Given the description of an element on the screen output the (x, y) to click on. 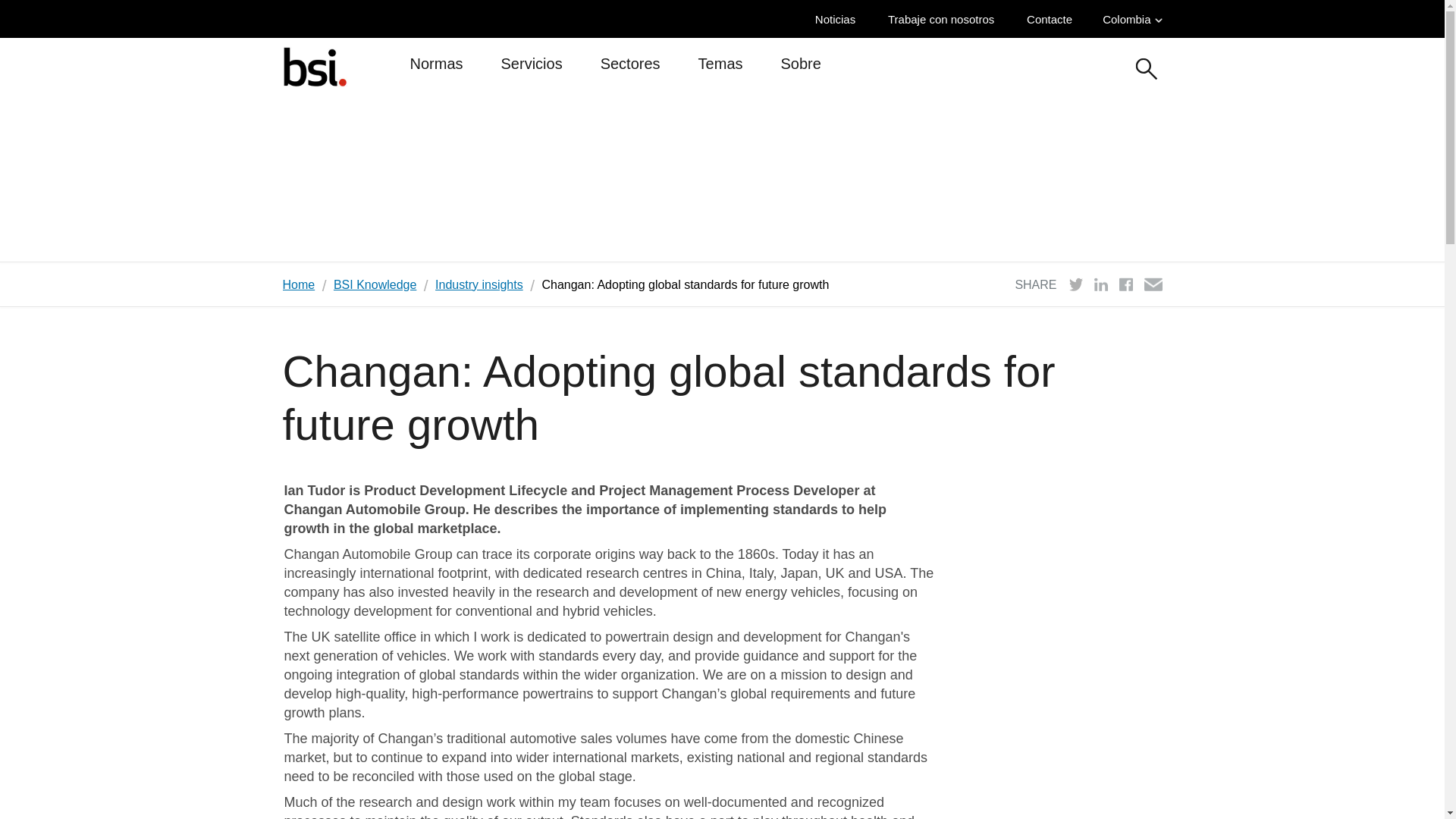
Servicios (531, 70)
Contacte (1053, 19)
Noticias (839, 19)
Noticias (839, 19)
Trabaje con nosotros (944, 19)
Trabaje con nosotros (944, 19)
Colombia (1131, 19)
Contacte (1053, 19)
logo (314, 65)
